Given the description of an element on the screen output the (x, y) to click on. 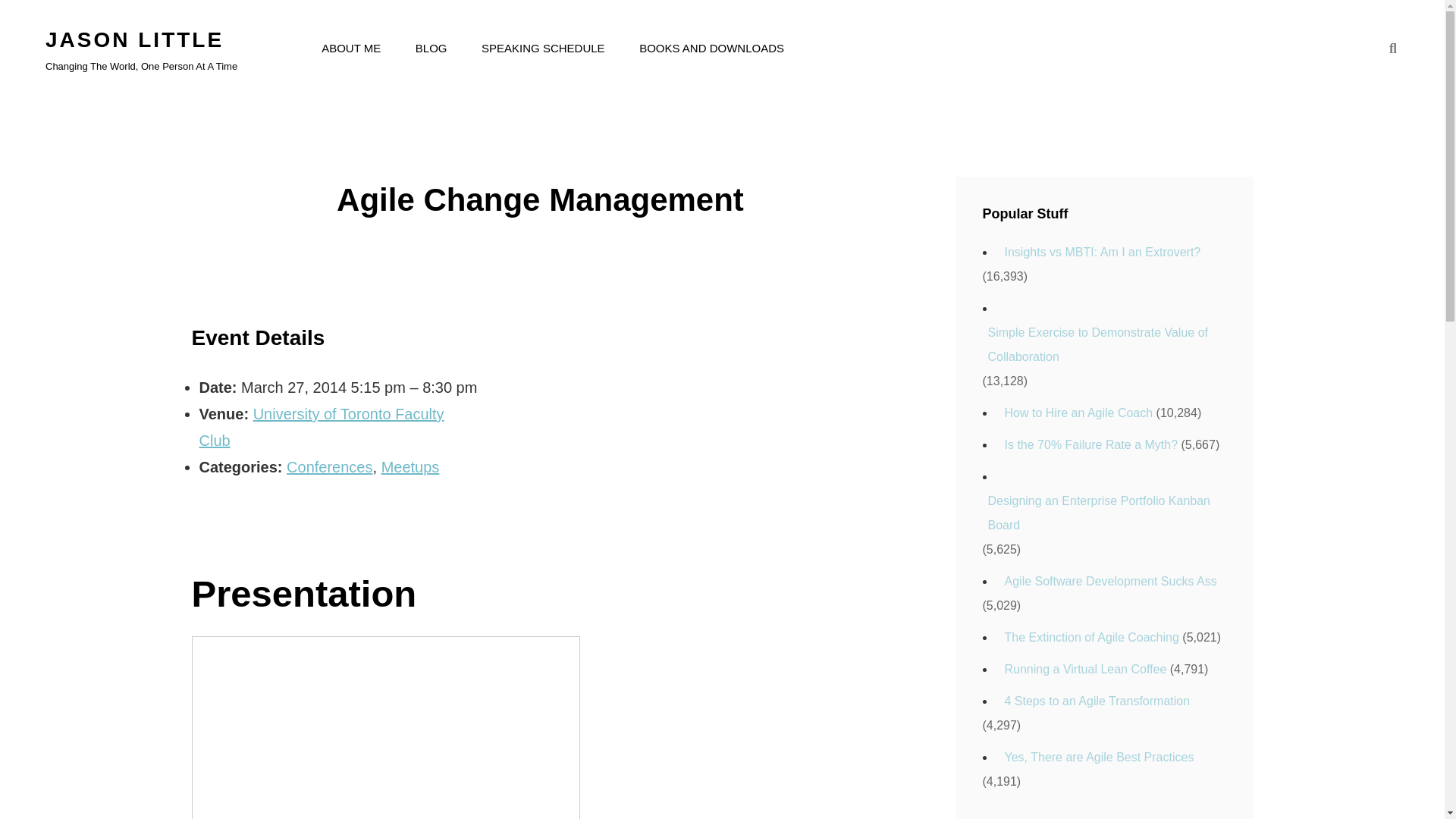
JASON LITTLE (134, 39)
Running a Virtual Lean Coffee (1082, 669)
4 Steps to an Agile Transformation (1094, 701)
Simple Exercise to Demonstrate Value of Collaboration (1104, 345)
BOOKS AND DOWNLOADS (711, 48)
How to Hire an Agile Coach (1075, 413)
SPEAKING SCHEDULE (542, 48)
University of Toronto Faculty Club (321, 426)
The Extinction of Agile Coaching (1088, 637)
Meetups (410, 466)
BLOG (431, 48)
Yes, There are Agile Best Practices (1095, 757)
SEARCH (1392, 48)
ABOUT ME (350, 48)
Designing an Enterprise Portfolio Kanban Board (1104, 512)
